Given the description of an element on the screen output the (x, y) to click on. 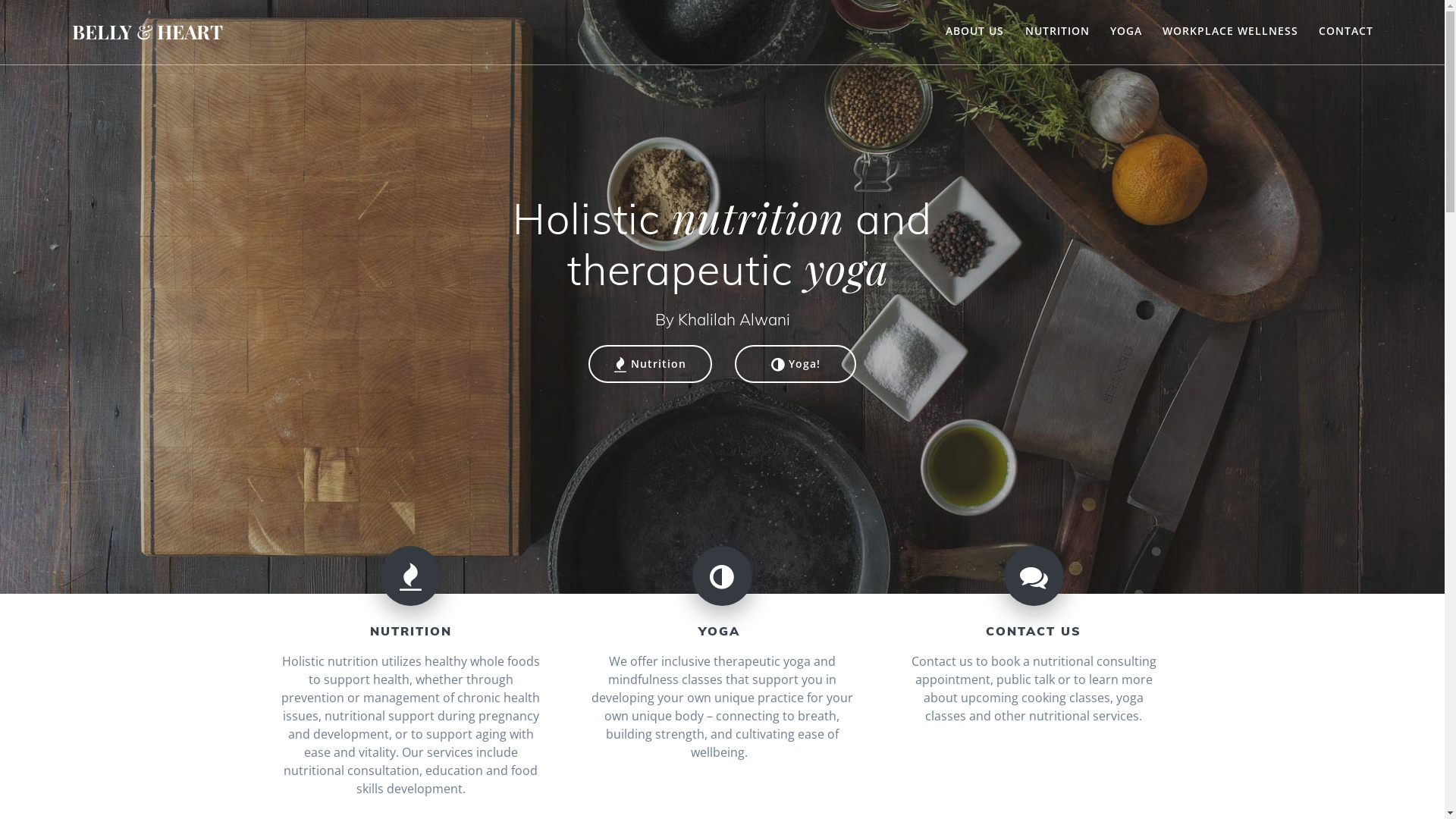
WORKPLACE WELLNESS Element type: text (1230, 31)
NUTRITION Element type: text (1057, 31)
BELLY & HEART Element type: text (147, 31)
Yoga! Element type: text (795, 363)
YOGA Element type: text (1126, 31)
ABOUT US Element type: text (974, 31)
CONTACT Element type: text (1345, 31)
Nutrition Element type: text (650, 363)
